Given the description of an element on the screen output the (x, y) to click on. 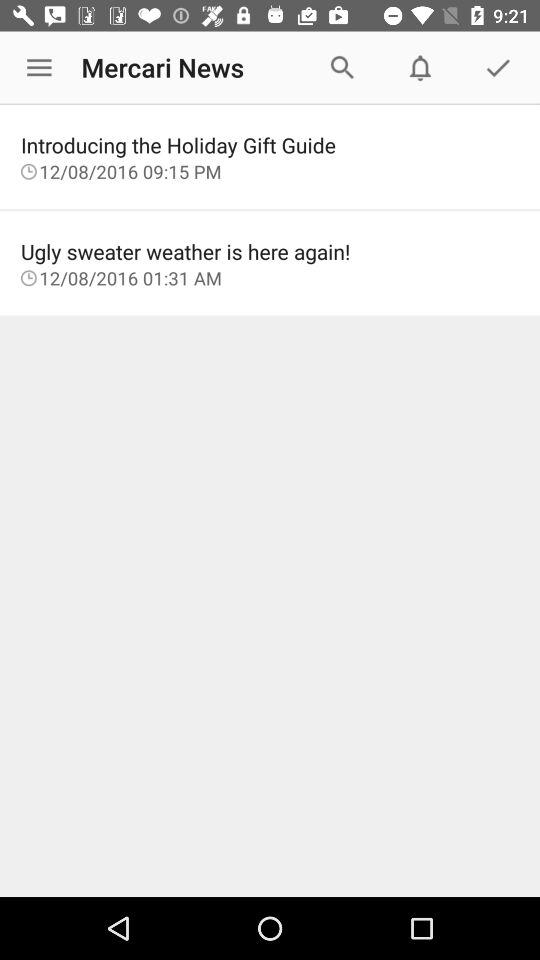
open the item above the 12 08 2016 item (270, 251)
